Given the description of an element on the screen output the (x, y) to click on. 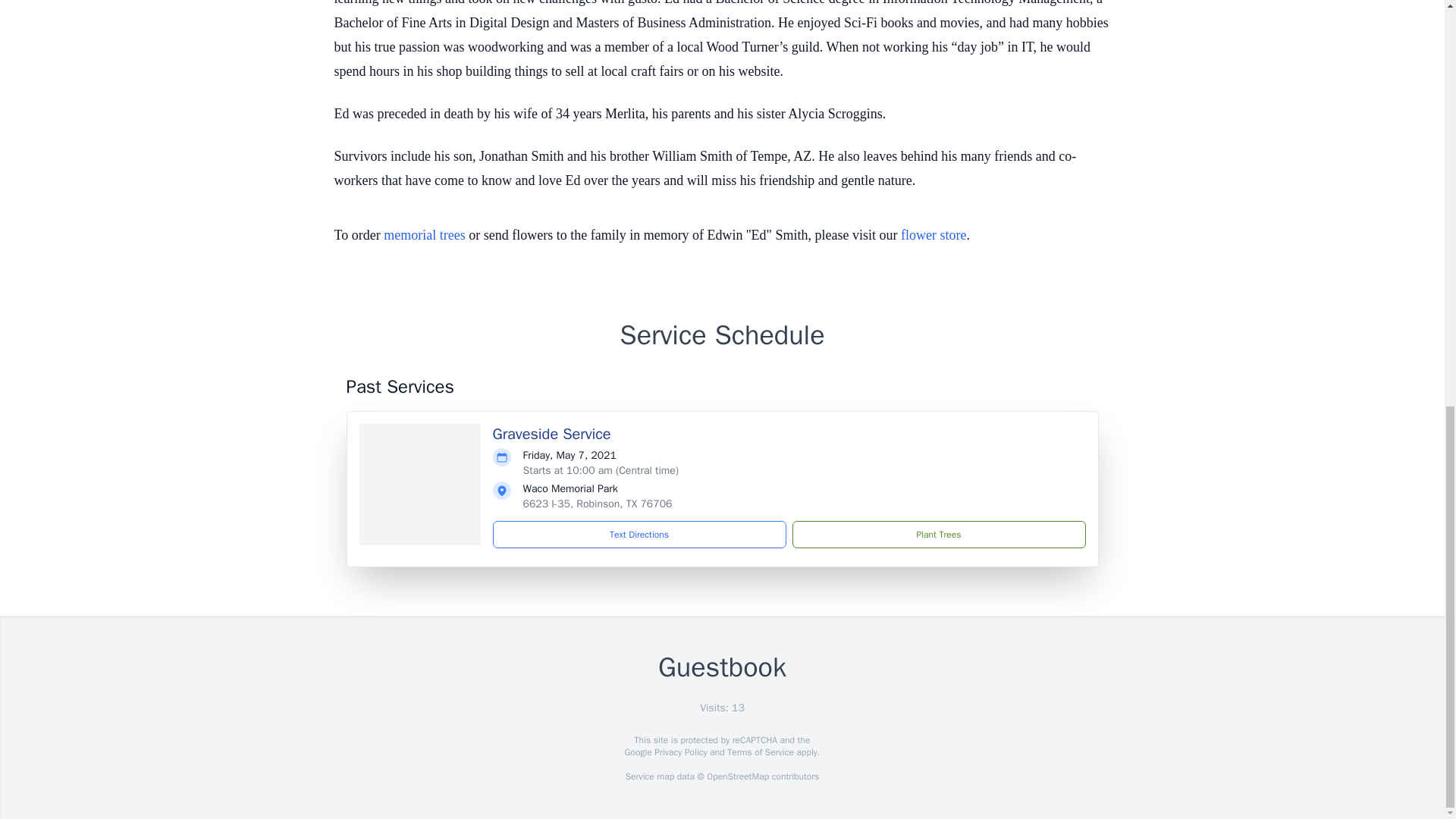
memorial trees (424, 234)
OpenStreetMap (737, 776)
Plant Trees (938, 533)
Privacy Policy (679, 752)
Text Directions (639, 533)
flower store (933, 234)
6623 I-35, Robinson, TX 76706 (597, 503)
Terms of Service (759, 752)
